Given the description of an element on the screen output the (x, y) to click on. 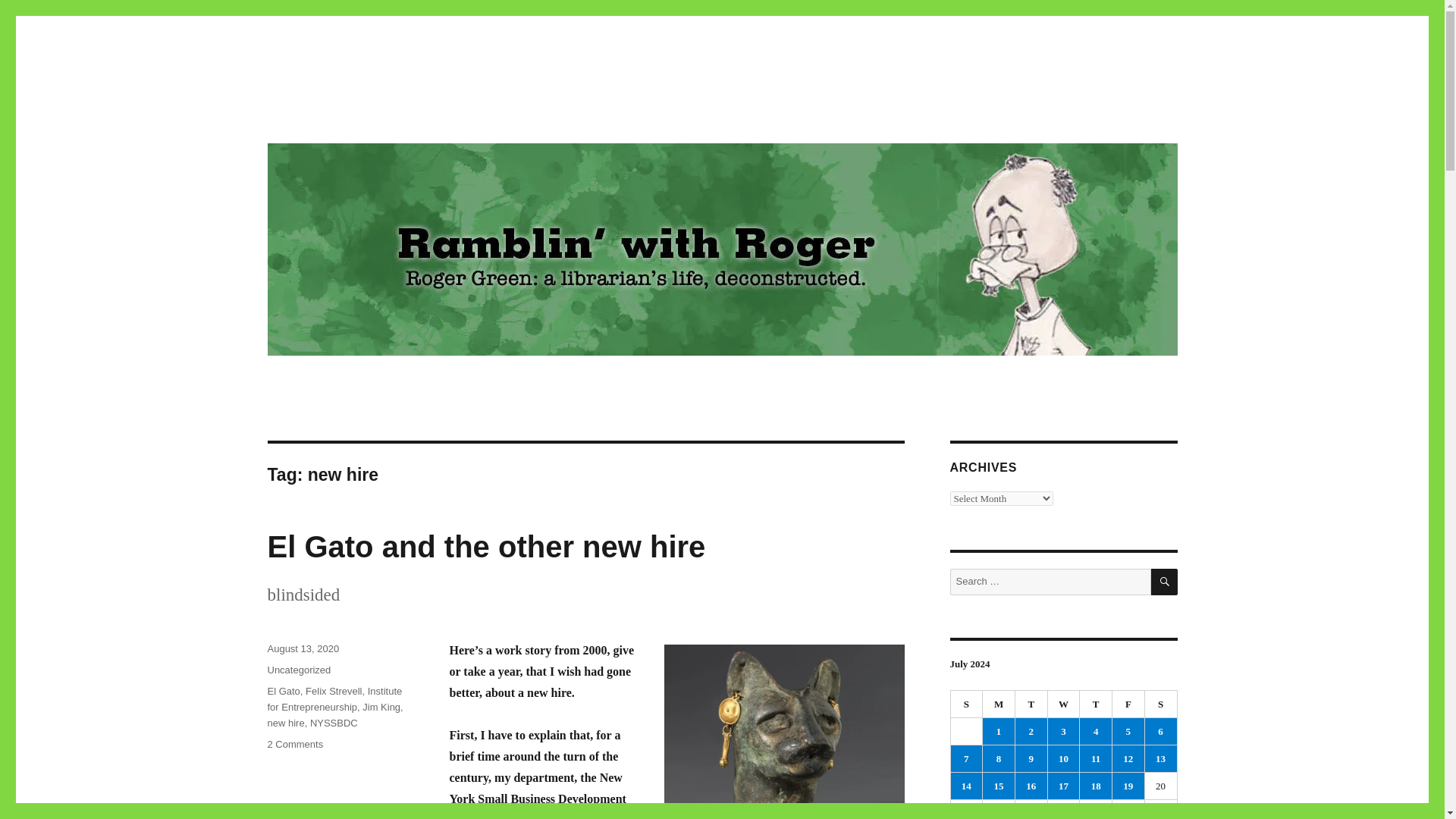
El Gato (282, 690)
2 (294, 744)
NYSSBDC (1030, 731)
Jim King (334, 722)
Institute for Entrepreneurship (381, 706)
4 (333, 698)
7 (1096, 731)
Ramblin' with Roger (966, 758)
3 (368, 114)
Felix Strevell (1064, 731)
Monday (333, 690)
Uncategorized (998, 704)
Sunday (298, 669)
6 (967, 704)
